Given the description of an element on the screen output the (x, y) to click on. 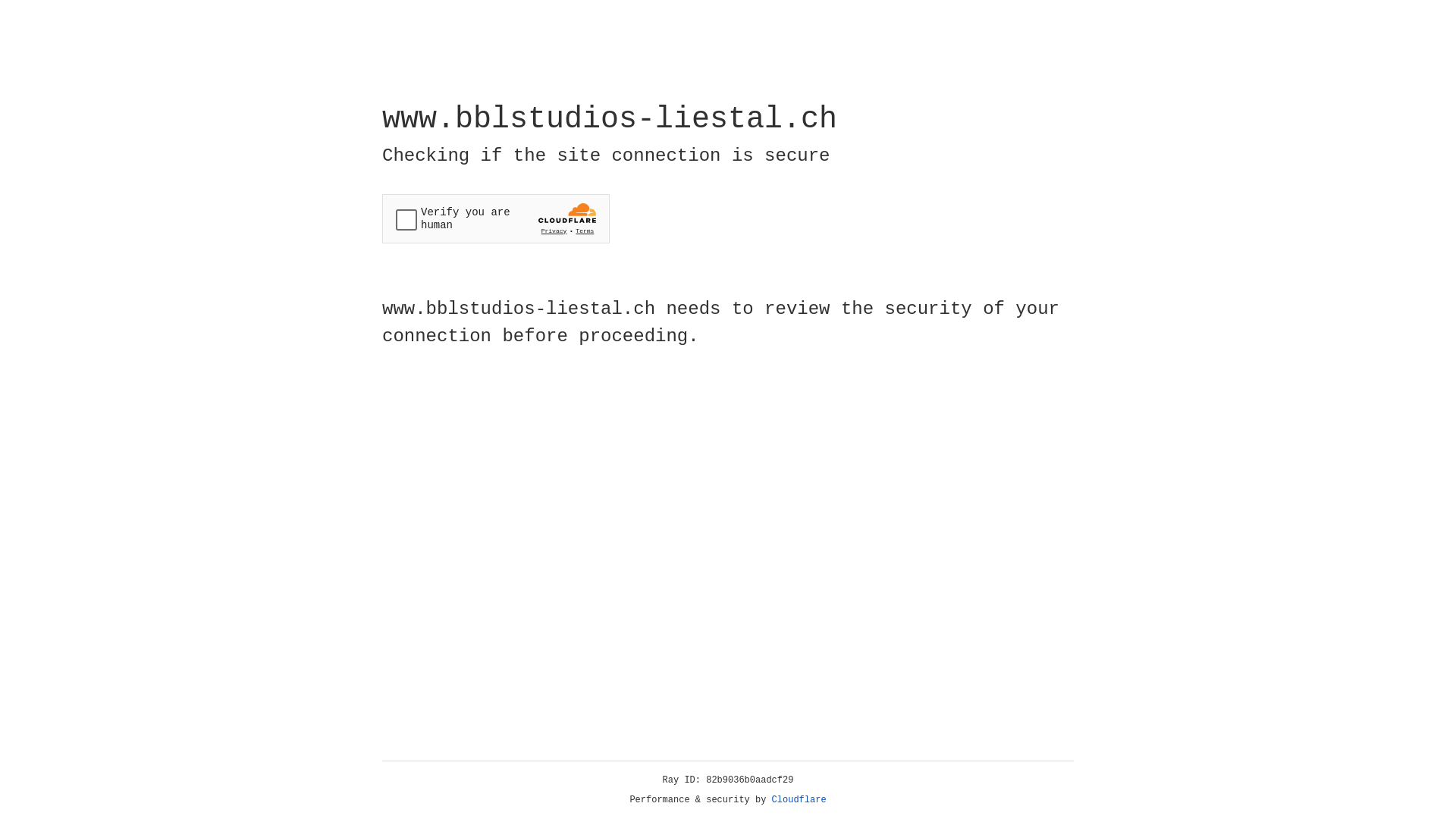
Widget containing a Cloudflare security challenge Element type: hover (495, 218)
Cloudflare Element type: text (798, 799)
